Given the description of an element on the screen output the (x, y) to click on. 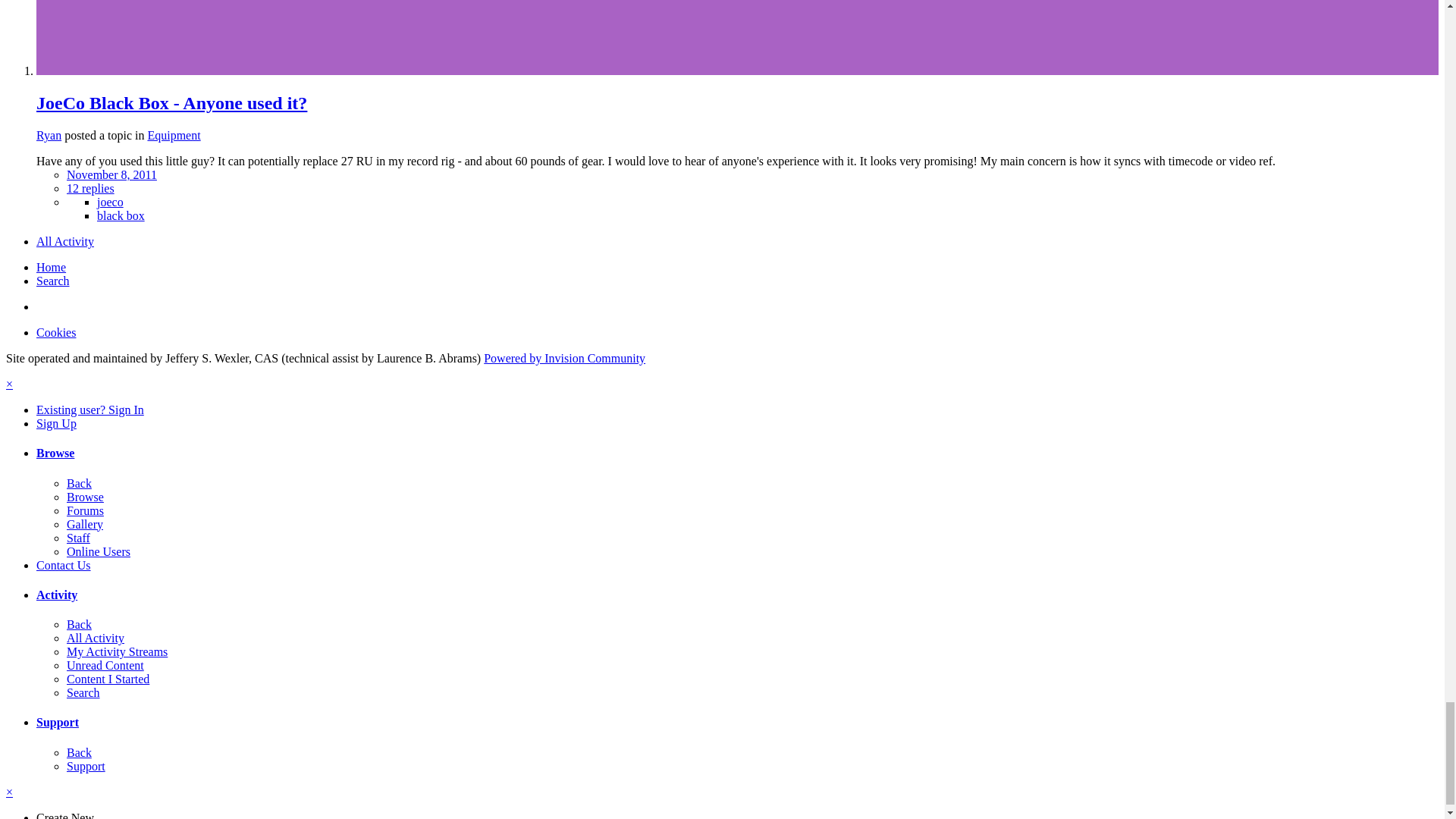
Find other content tagged with 'joeco' (110, 201)
Invision Community (564, 358)
Find other content tagged with 'black box' (120, 215)
Home (50, 267)
Go to Ryan's profile (48, 134)
